Given the description of an element on the screen output the (x, y) to click on. 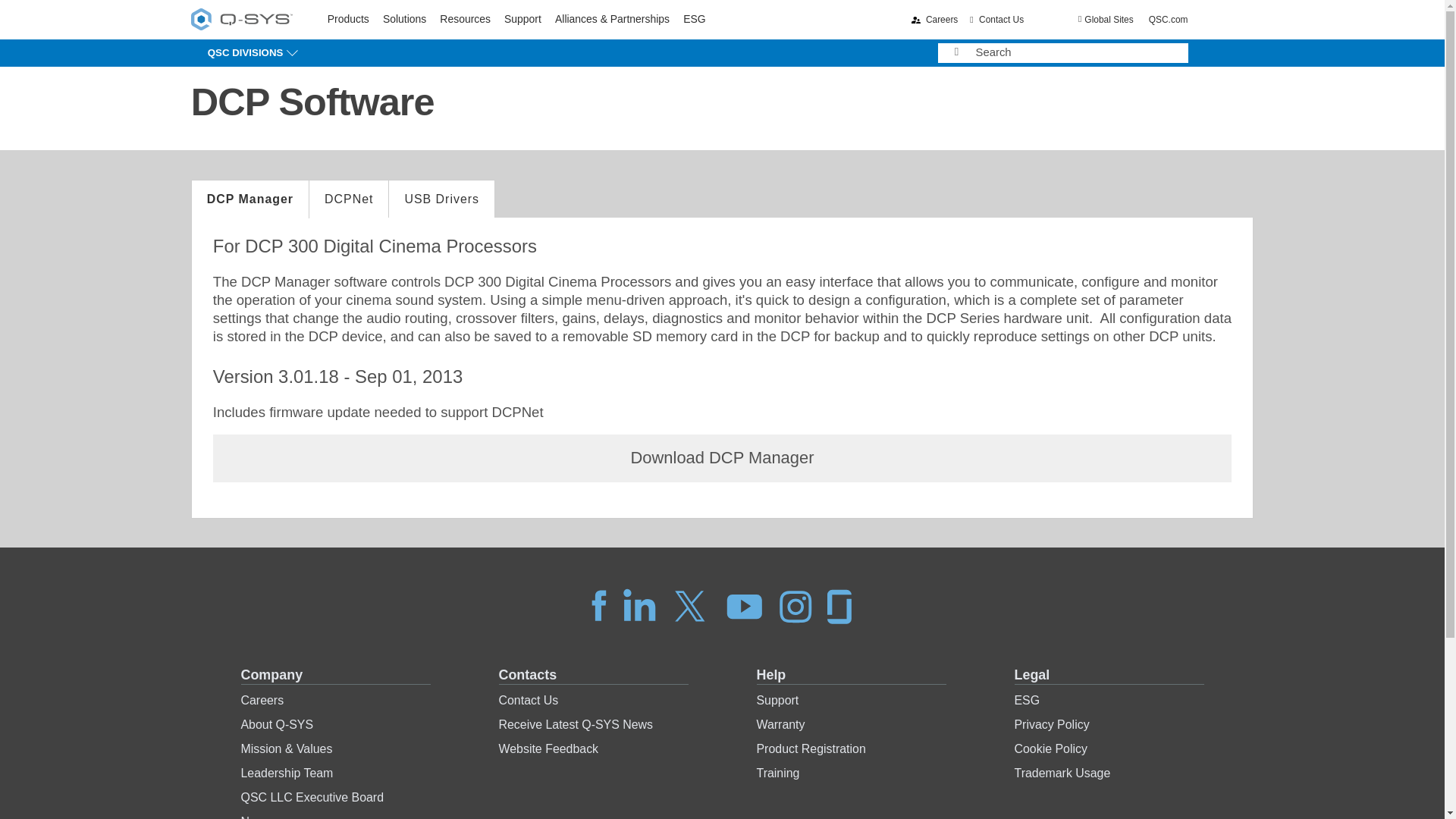
YouTube logo (744, 606)
Q-SYS logo (241, 19)
ESG (693, 19)
Solutions (241, 21)
Resources (404, 19)
Support (464, 19)
Products (522, 19)
Contact Us (348, 19)
LinkedIn logo (996, 19)
Twitter logo (638, 606)
Instagram logo (690, 606)
